Given the description of an element on the screen output the (x, y) to click on. 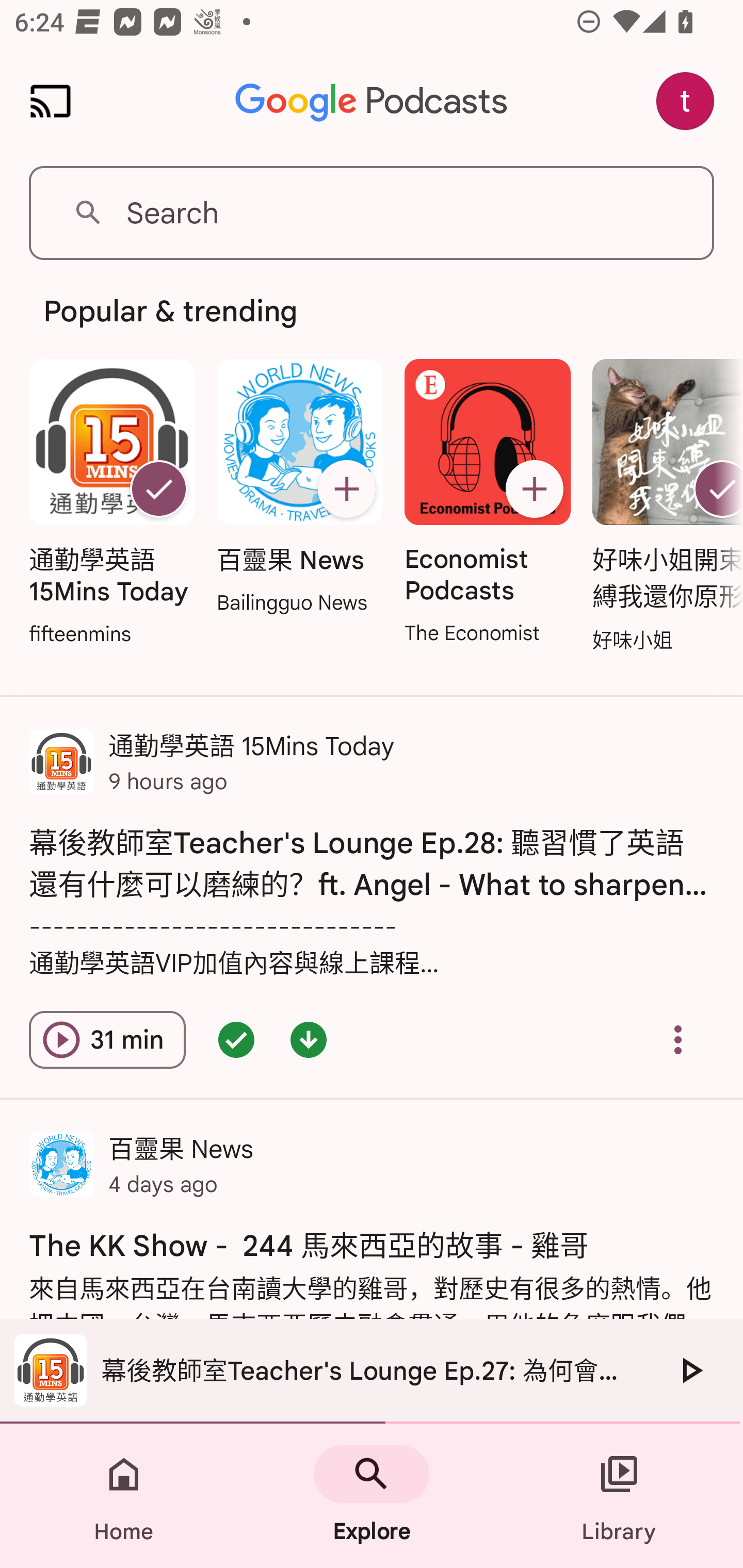
Cast. Disconnected (50, 101)
Search (371, 212)
百靈果 News Subscribe 百靈果 News Bailingguo News (299, 488)
好味小姐開束縛我還你原形 Unsubscribe 好味小姐開束縛我還你原形 好味小姐 (662, 507)
Unsubscribe (158, 489)
Subscribe (346, 489)
Subscribe (534, 489)
Unsubscribe (714, 489)
Episode queued - double tap for options (235, 1040)
Episode downloaded - double tap for options (308, 1040)
Overflow menu (677, 1040)
Play (690, 1370)
Home (123, 1495)
Library (619, 1495)
